Given the description of an element on the screen output the (x, y) to click on. 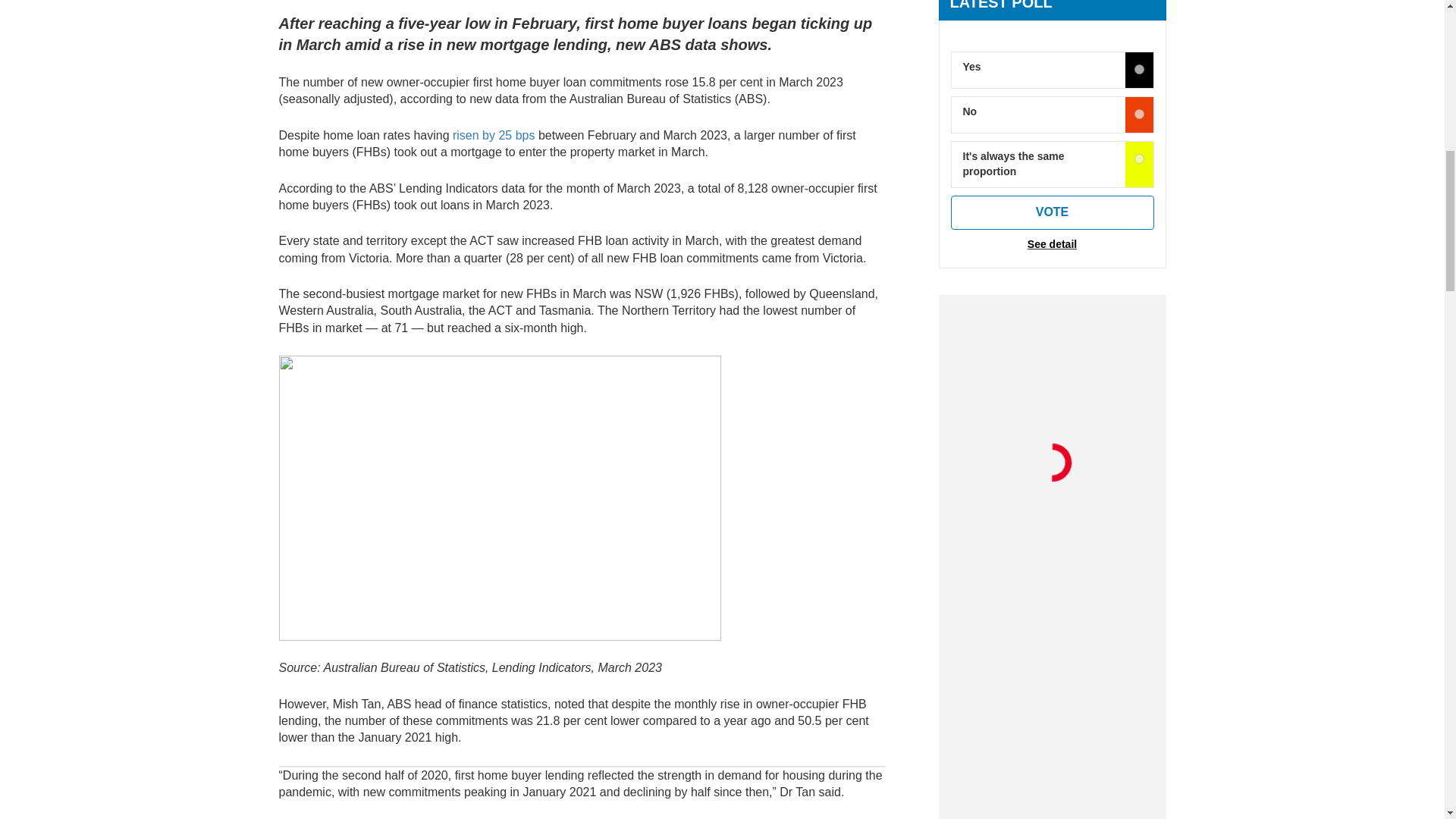
1 (1139, 113)
0 (1139, 69)
2 (1139, 158)
